Given the description of an element on the screen output the (x, y) to click on. 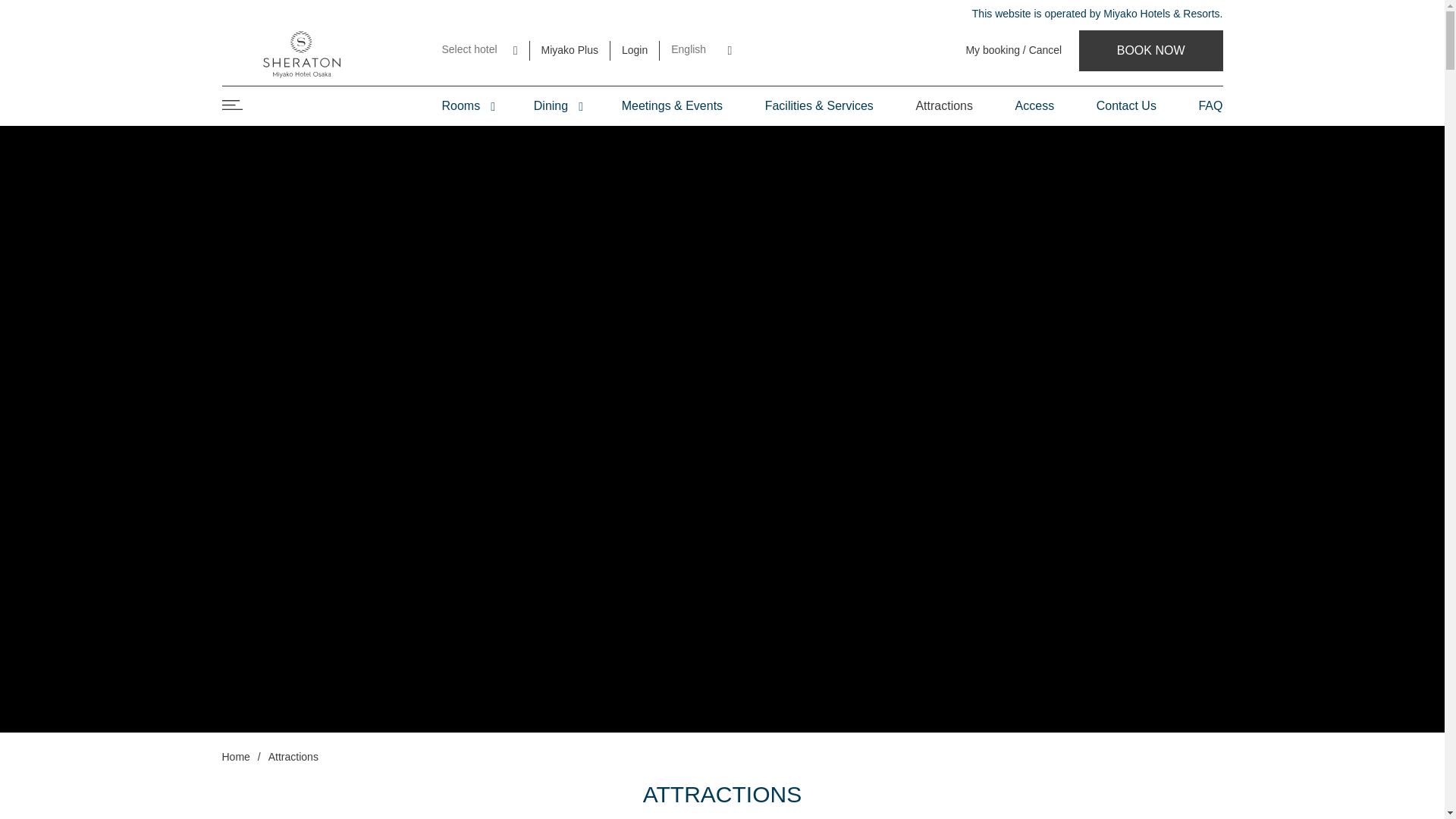
Miyako Plus (569, 50)
Imperial Suite (528, 150)
Rooms (466, 106)
Sheraton Miyako Hotel Osaka (1150, 50)
BOOK NOW (1150, 50)
Login (634, 50)
